Given the description of an element on the screen output the (x, y) to click on. 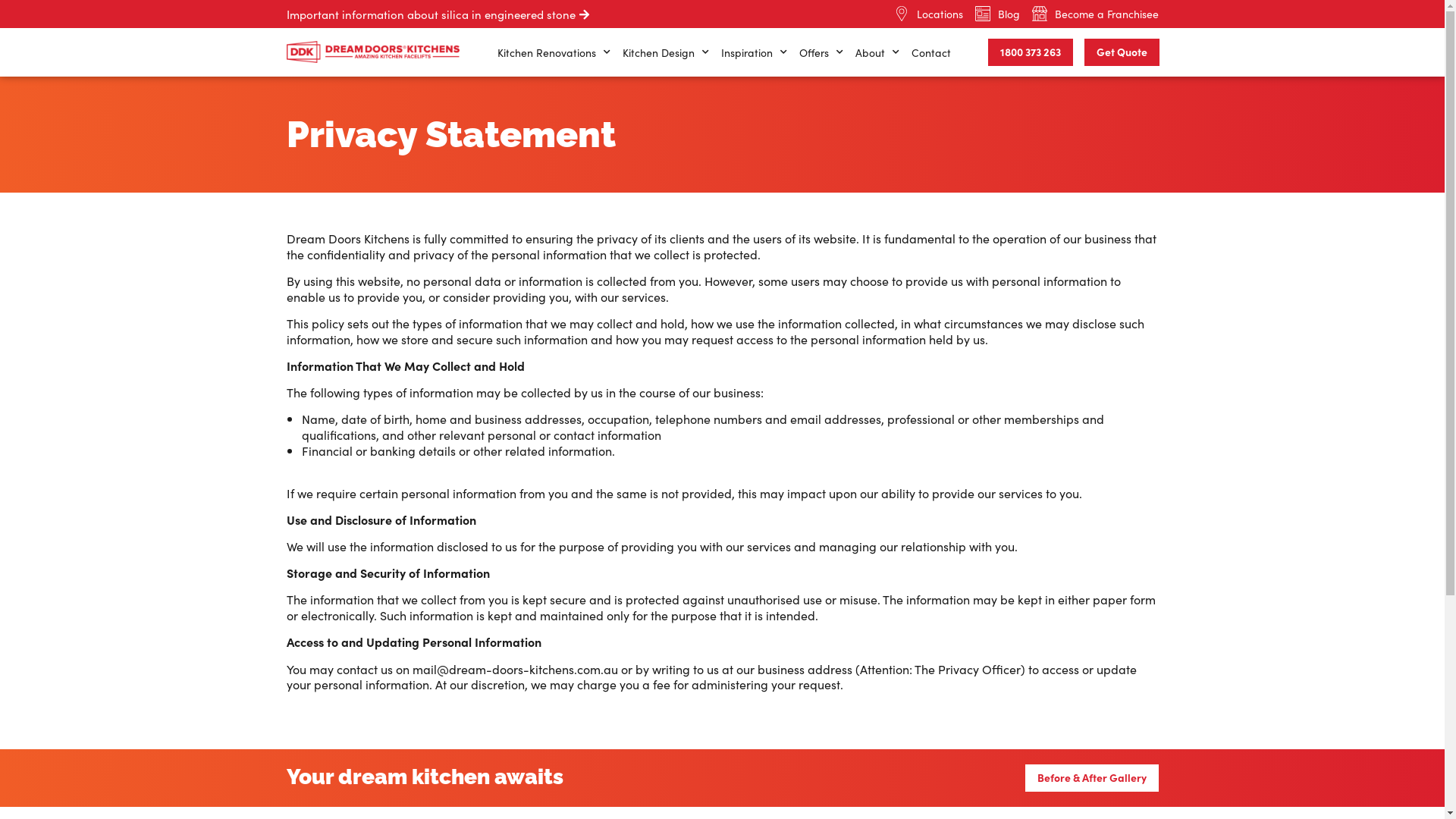
Get Quote Element type: text (1121, 51)
Before & After Gallery Element type: text (1091, 777)
1800 373 263 Element type: text (1030, 51)
Blog Element type: text (997, 13)
Important information about silica in engineered stone Element type: text (437, 14)
Offers Element type: text (821, 52)
About Element type: text (877, 52)
Locations Element type: text (927, 13)
Become a Franchisee Element type: text (1094, 13)
Contact Element type: text (931, 52)
Kitchen Design Element type: text (665, 52)
Inspiration Element type: text (754, 52)
Kitchen Renovations Element type: text (553, 52)
